Given the description of an element on the screen output the (x, y) to click on. 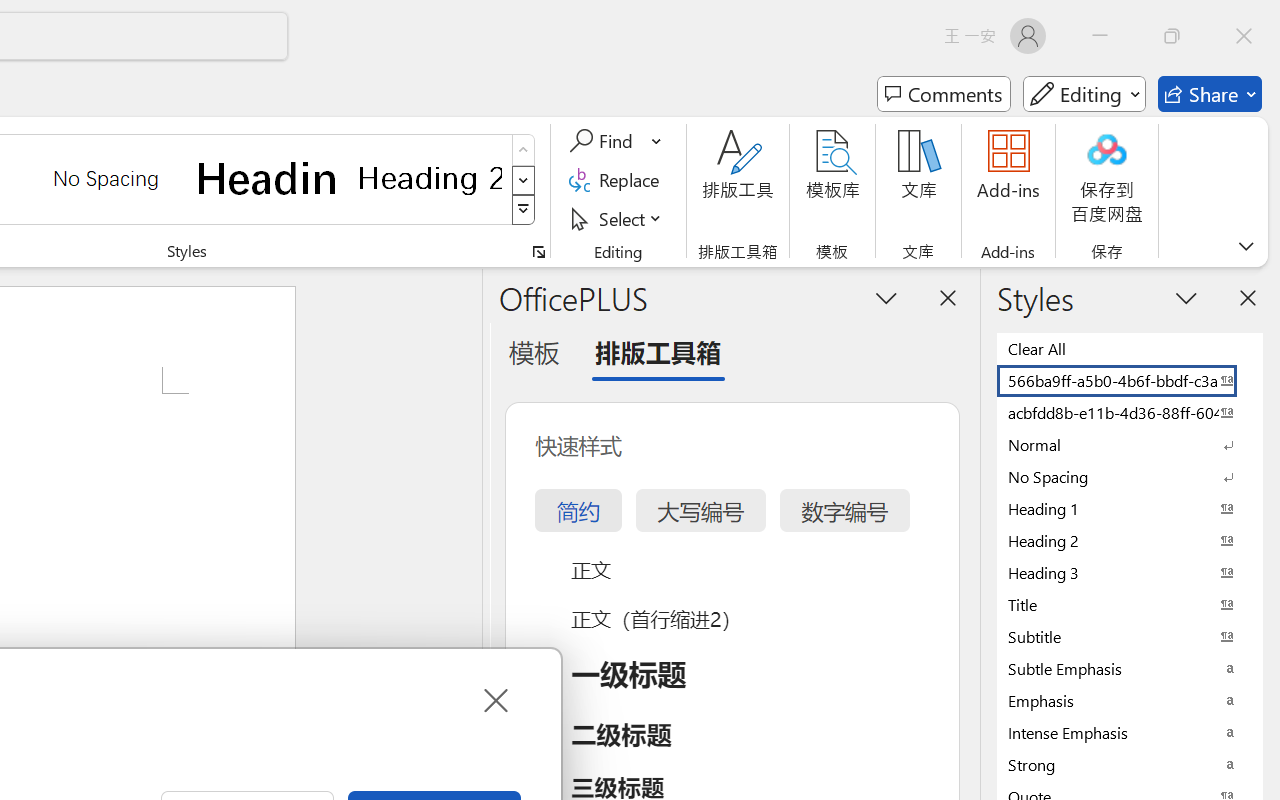
Row Down (523, 180)
Minimize (1099, 36)
566ba9ff-a5b0-4b6f-bbdf-c3ab41993fc2 (1130, 380)
Share (1210, 94)
More Options (657, 141)
Styles (523, 209)
Find (616, 141)
Heading 2 (429, 178)
acbfdd8b-e11b-4d36-88ff-6049b138f862 (1130, 412)
No Spacing (1130, 476)
